Given the description of an element on the screen output the (x, y) to click on. 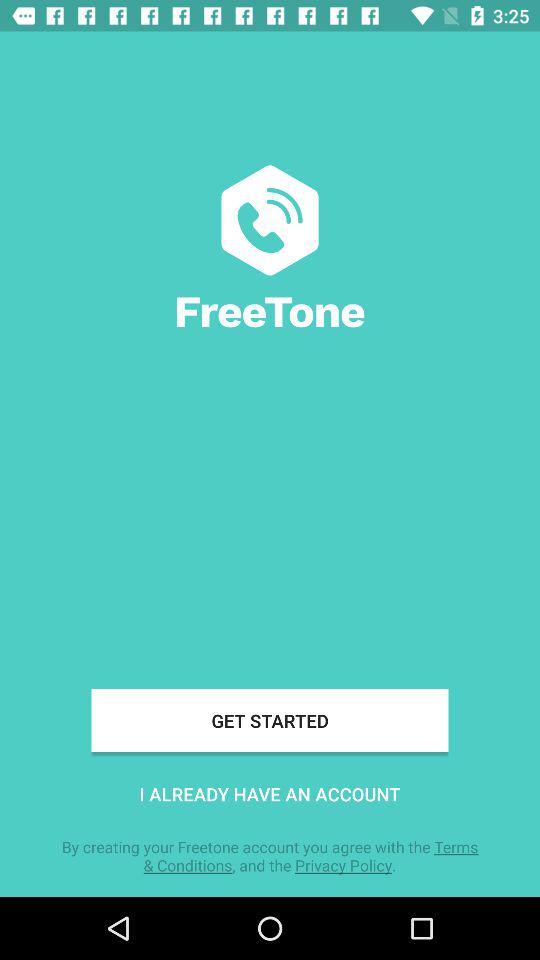
turn on the i already have (269, 793)
